Given the description of an element on the screen output the (x, y) to click on. 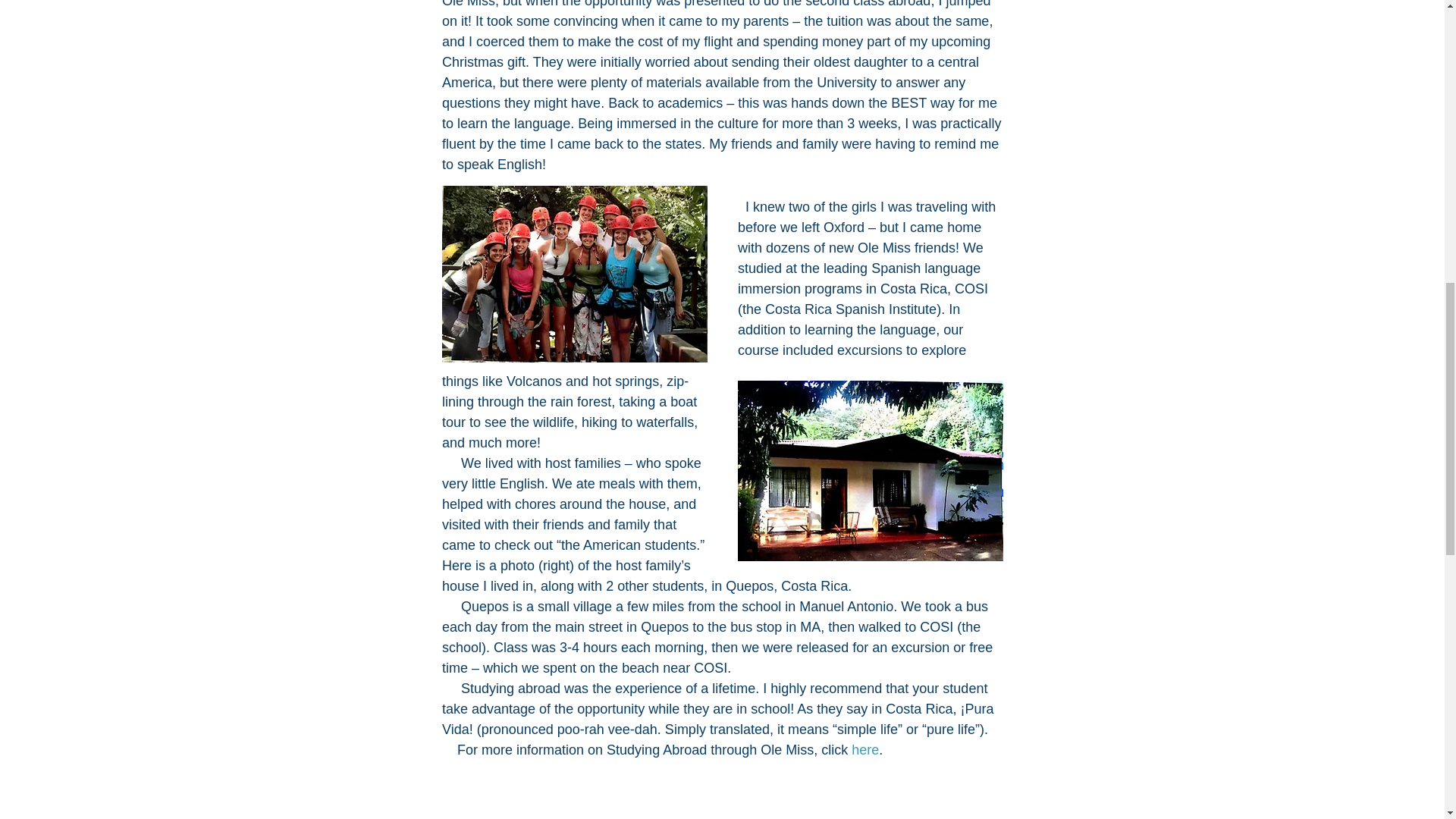
here (865, 749)
